Given the description of an element on the screen output the (x, y) to click on. 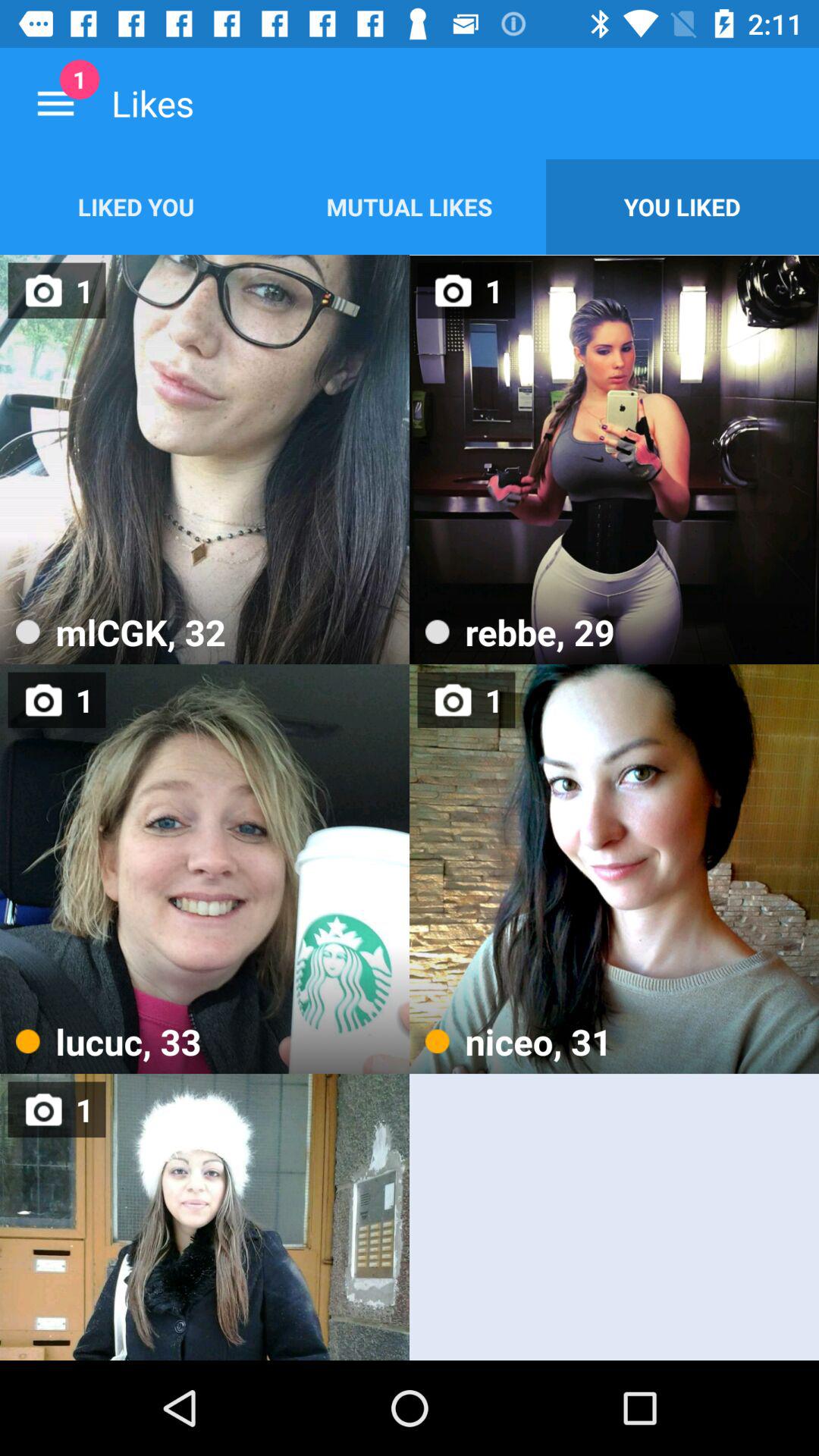
select the item to the left of likes item (55, 103)
